Given the description of an element on the screen output the (x, y) to click on. 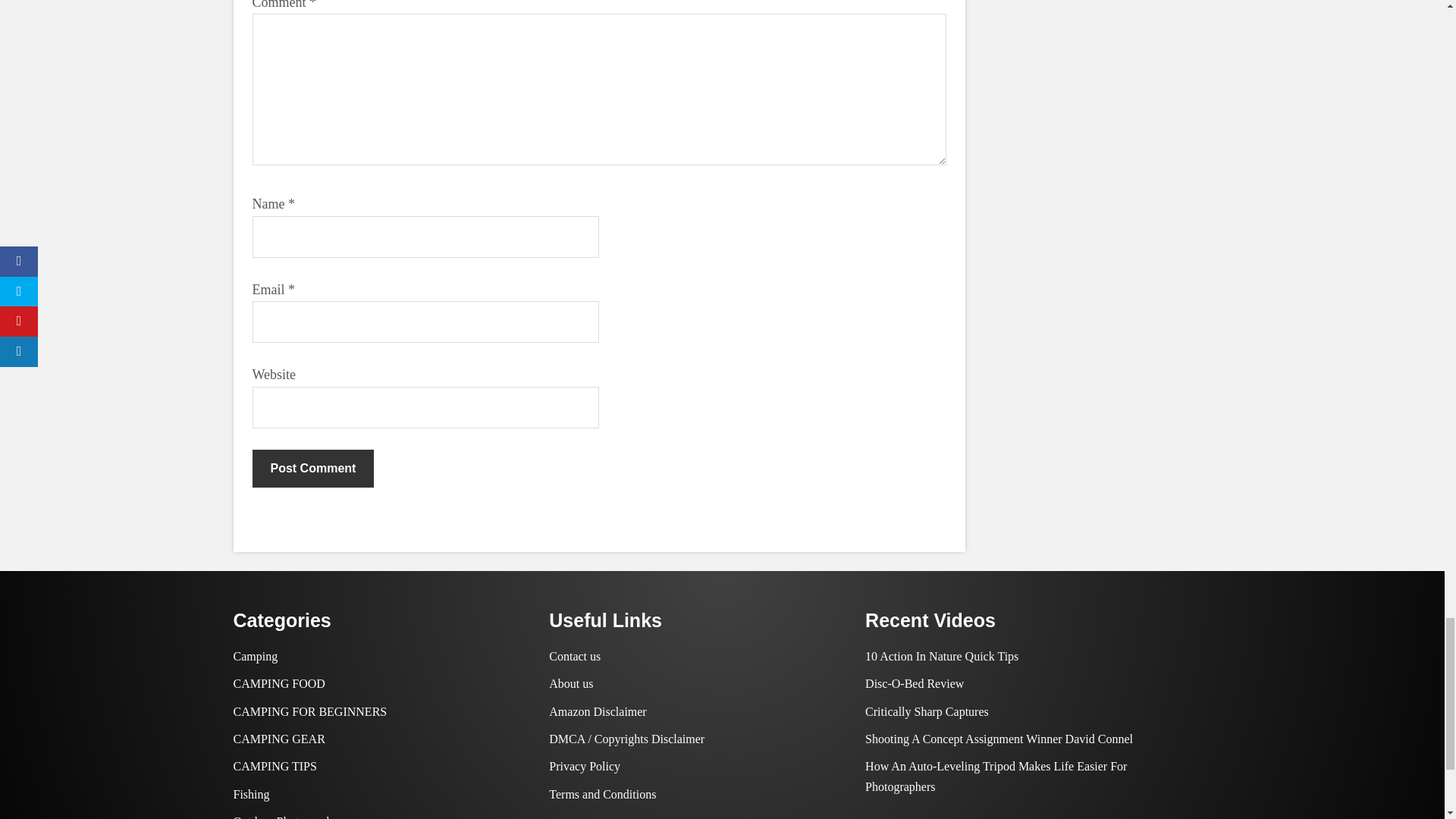
Post Comment (312, 468)
